Given the description of an element on the screen output the (x, y) to click on. 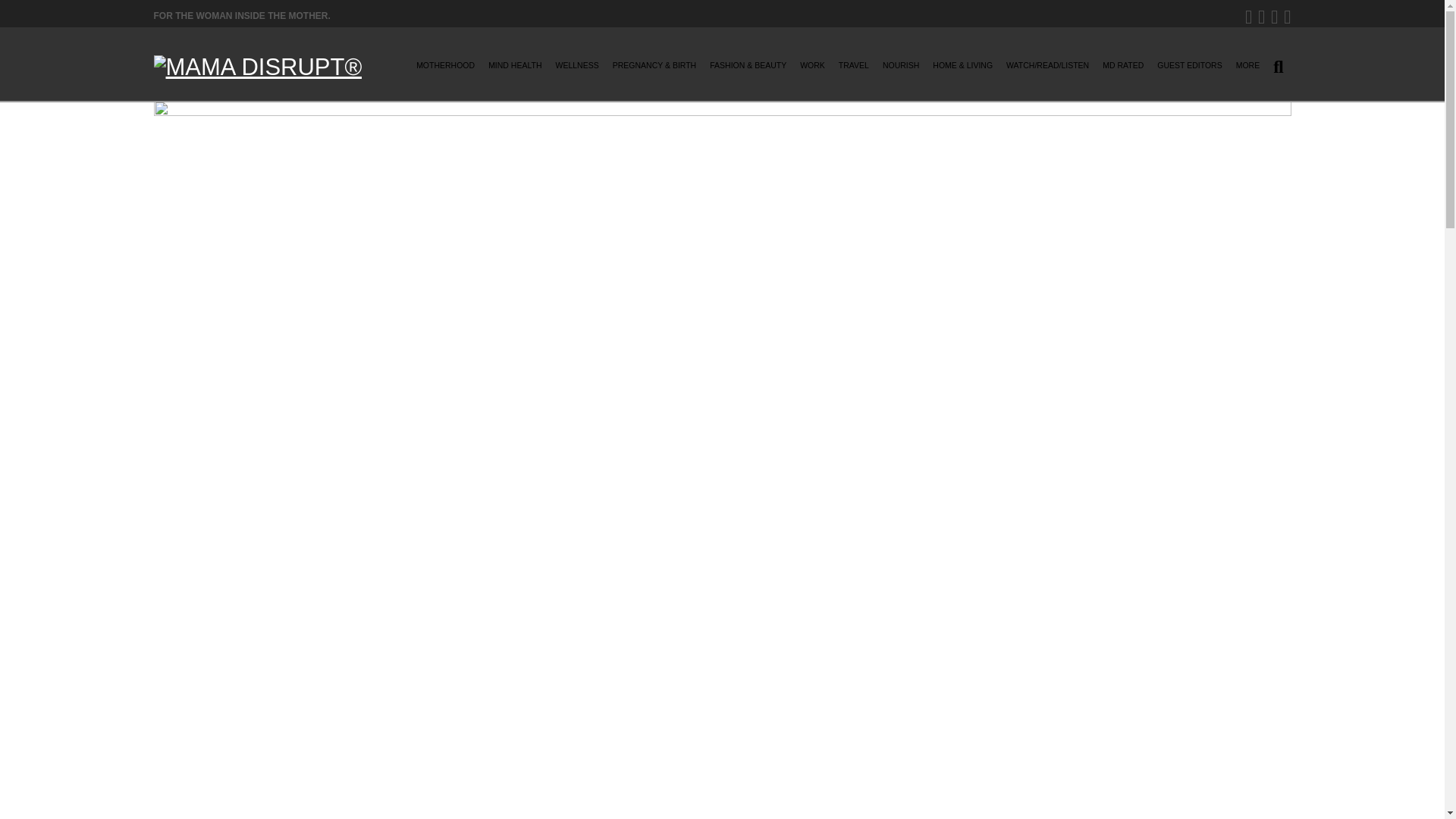
GUEST EDITORS (1189, 70)
MOTHERHOOD (445, 70)
WELLNESS (577, 70)
MIND HEALTH (514, 70)
